Given the description of an element on the screen output the (x, y) to click on. 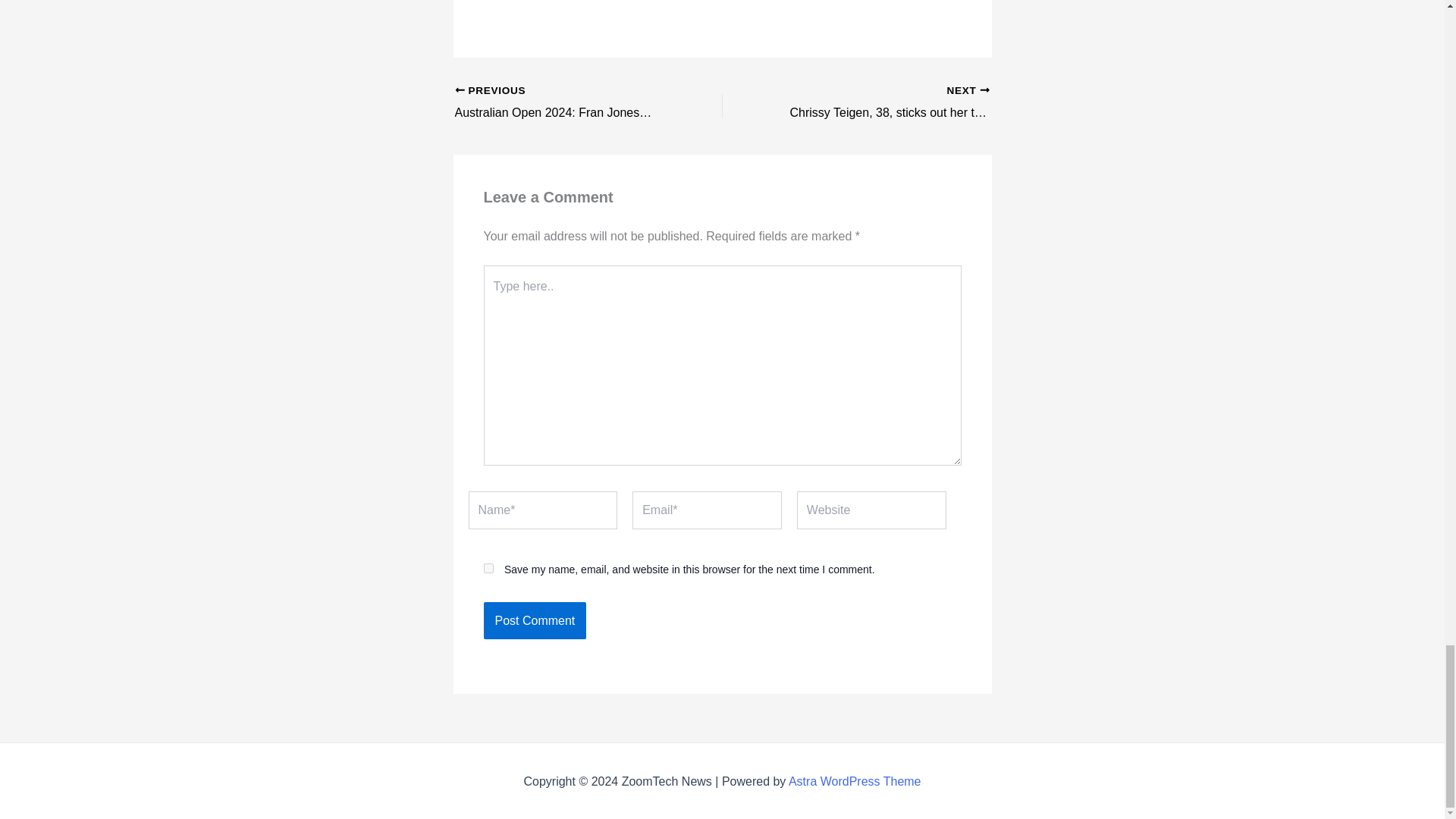
Post Comment (534, 620)
Post Comment (534, 620)
yes (488, 568)
